Given the description of an element on the screen output the (x, y) to click on. 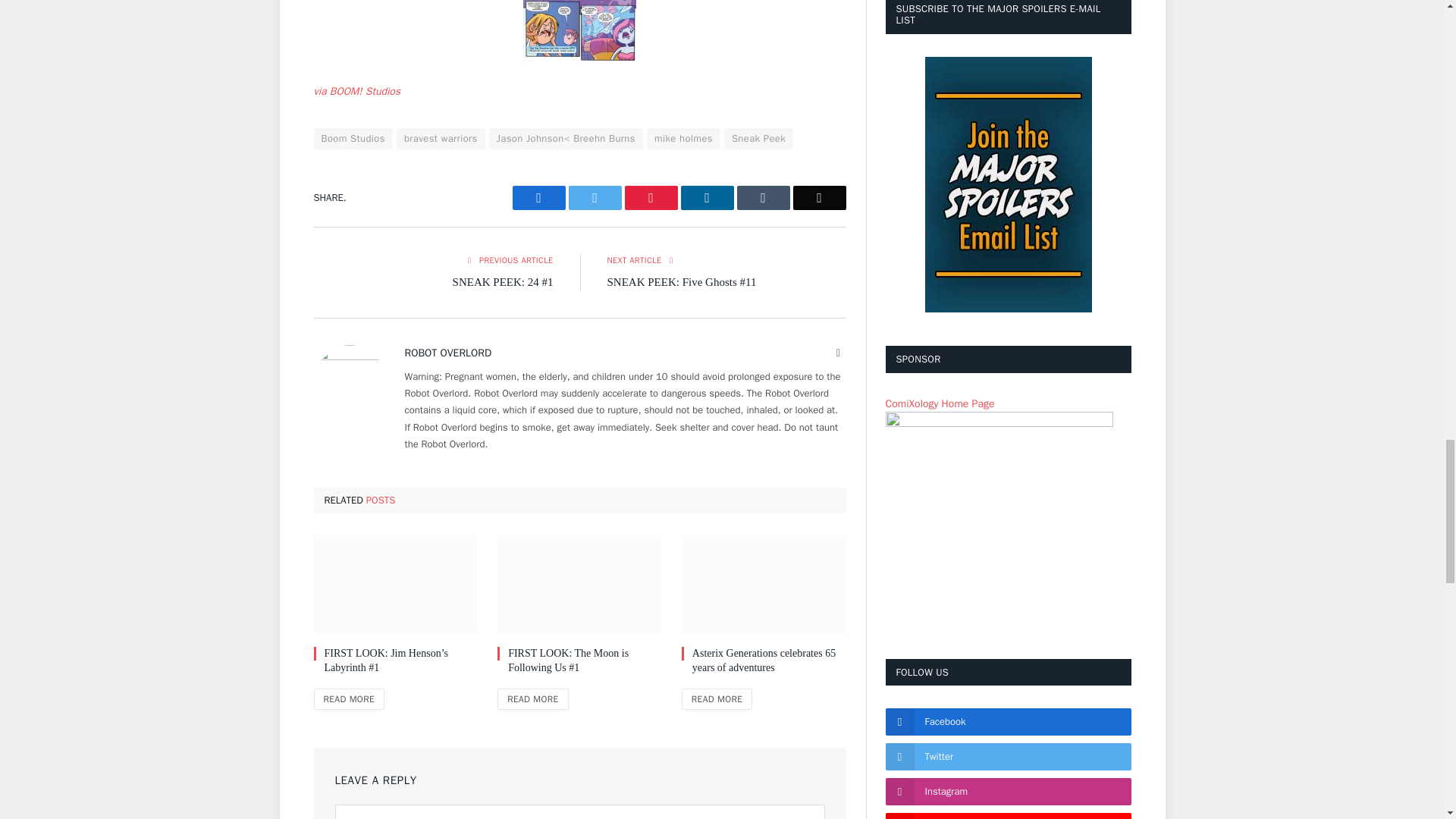
Share on Pinterest (651, 197)
Share on Twitter (595, 197)
BOOM! Studios (357, 91)
Share on Facebook (539, 197)
Share on LinkedIn (707, 197)
